Given the description of an element on the screen output the (x, y) to click on. 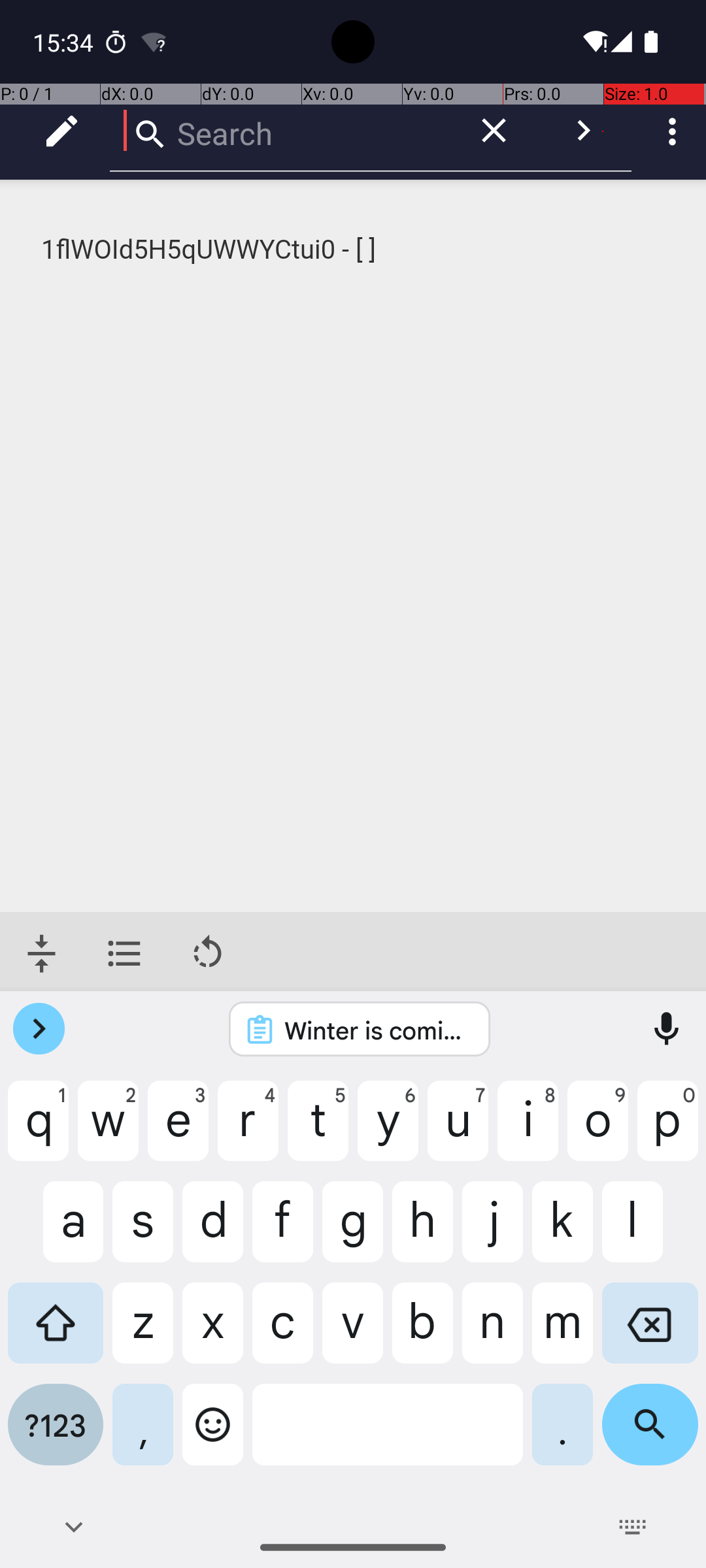
   Search Element type: android.widget.AutoCompleteTextView (280, 130)
Submit query Element type: android.widget.ImageView (583, 130)
1flWOId5H5qUWWYCtui0 - [ ] Element type: android.widget.TextView (354, 249)
Winter is coming. Element type: android.widget.TextView (376, 1029)
